Given the description of an element on the screen output the (x, y) to click on. 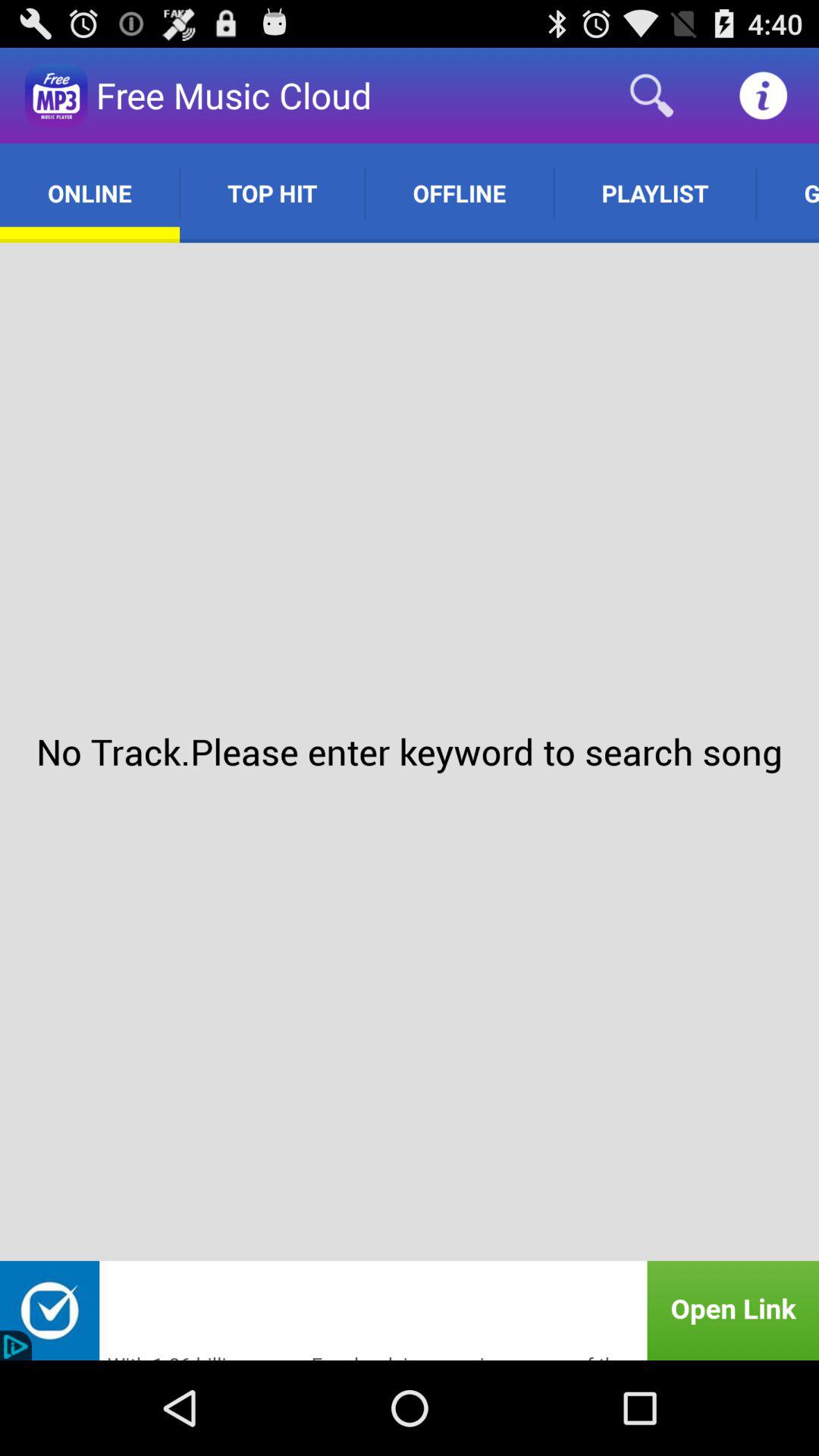
visit advertisement (409, 1310)
